Given the description of an element on the screen output the (x, y) to click on. 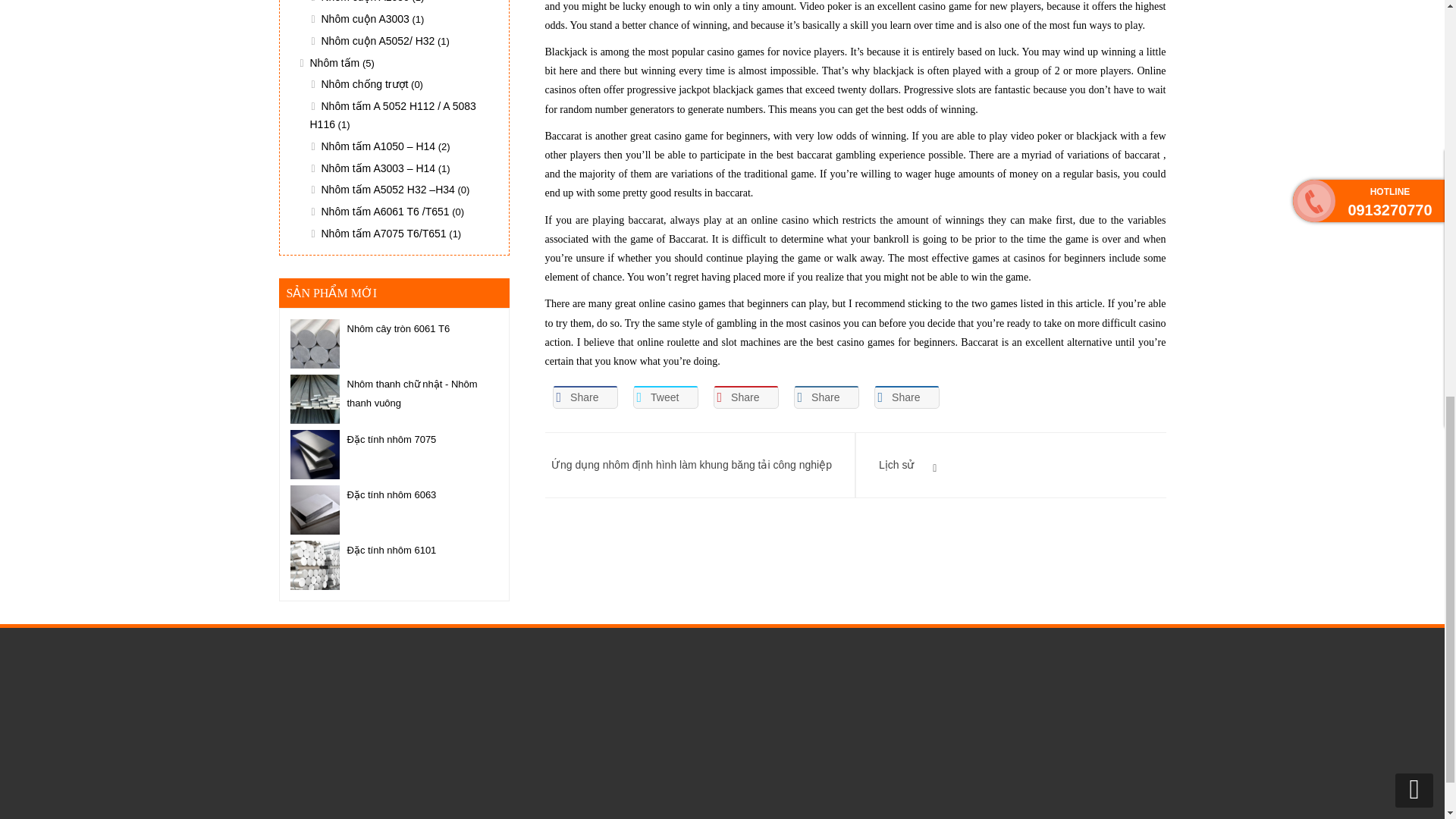
Share on Pinterest (745, 396)
Share on Facebook (584, 396)
Share on LinkedIn (826, 396)
Share on Twitter (664, 396)
Share on Digg (906, 396)
